Given the description of an element on the screen output the (x, y) to click on. 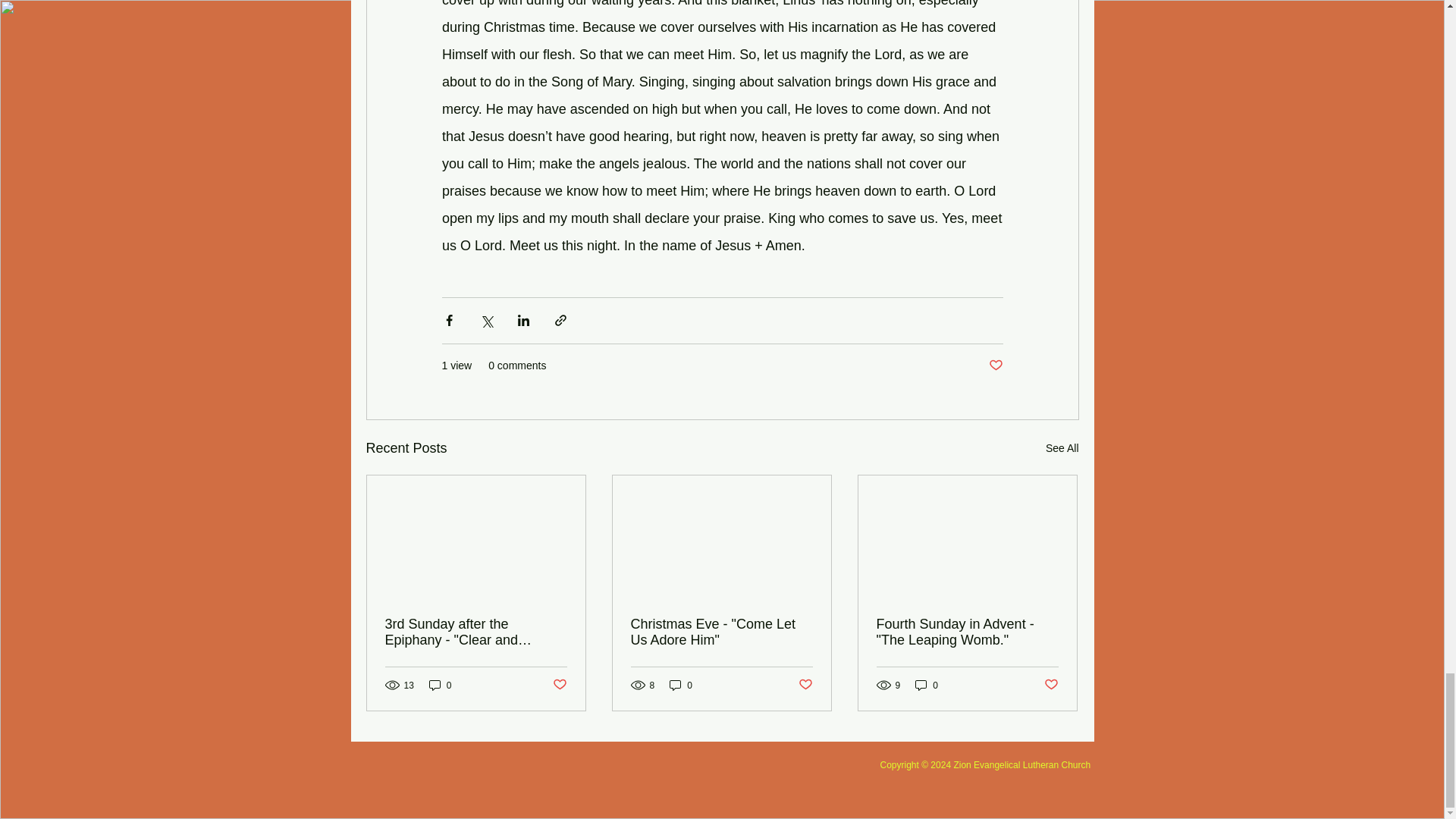
Post not marked as liked (995, 365)
3rd Sunday after the Epiphany - "Clear and Present Danger" (476, 632)
Post not marked as liked (1050, 684)
Post not marked as liked (804, 684)
Christmas Eve - "Come Let Us Adore Him" (721, 632)
See All (1061, 448)
0 (681, 685)
Fourth Sunday in Advent - "The Leaping Womb." (967, 632)
0 (440, 685)
Post not marked as liked (558, 684)
0 (926, 685)
